Given the description of an element on the screen output the (x, y) to click on. 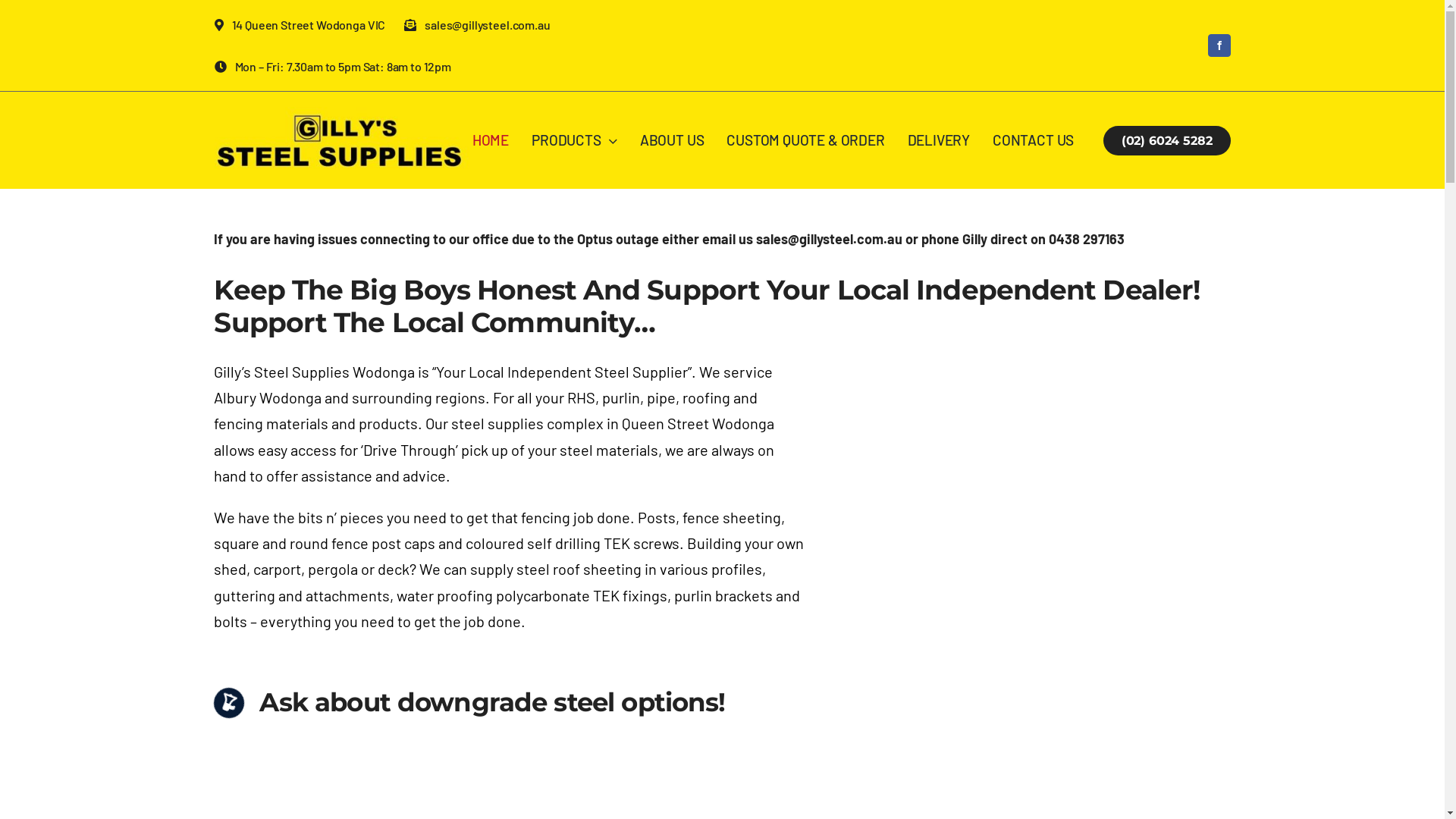
CUSTOM QUOTE & ORDER Element type: text (805, 140)
HOME Element type: text (490, 140)
DELIVERY Element type: text (938, 140)
PRODUCTS Element type: text (574, 140)
ABOUT US Element type: text (671, 140)
sales@gillysteel.com.au Element type: text (486, 24)
Facebook Element type: hover (1218, 45)
(02) 6024 5282 Element type: text (1166, 140)
CONTACT US Element type: text (1032, 140)
14 Queen Street Wodonga VIC Element type: text (308, 24)
